Given the description of an element on the screen output the (x, y) to click on. 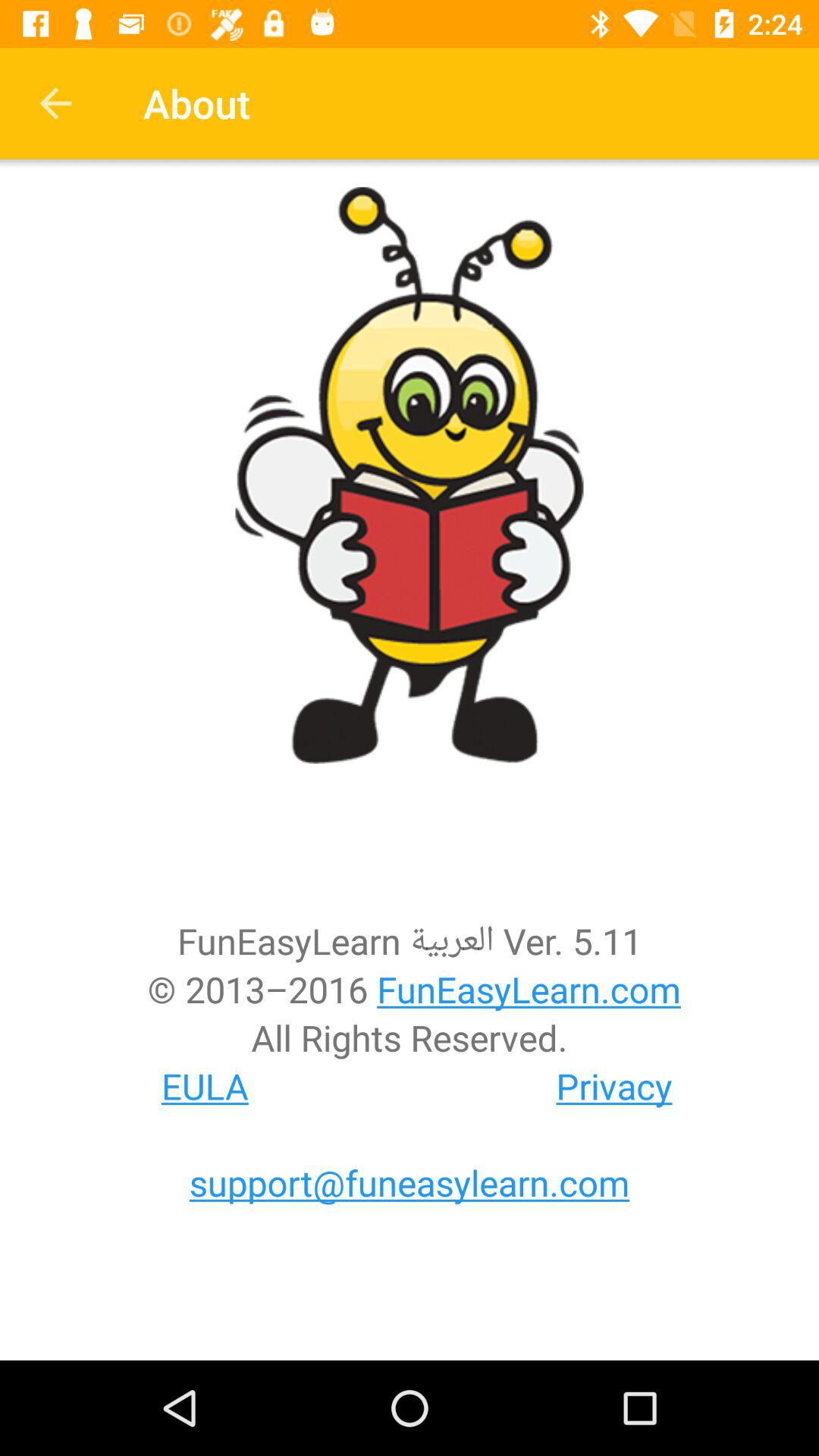
jump until 2013 2016 funeasylearn item (409, 989)
